Given the description of an element on the screen output the (x, y) to click on. 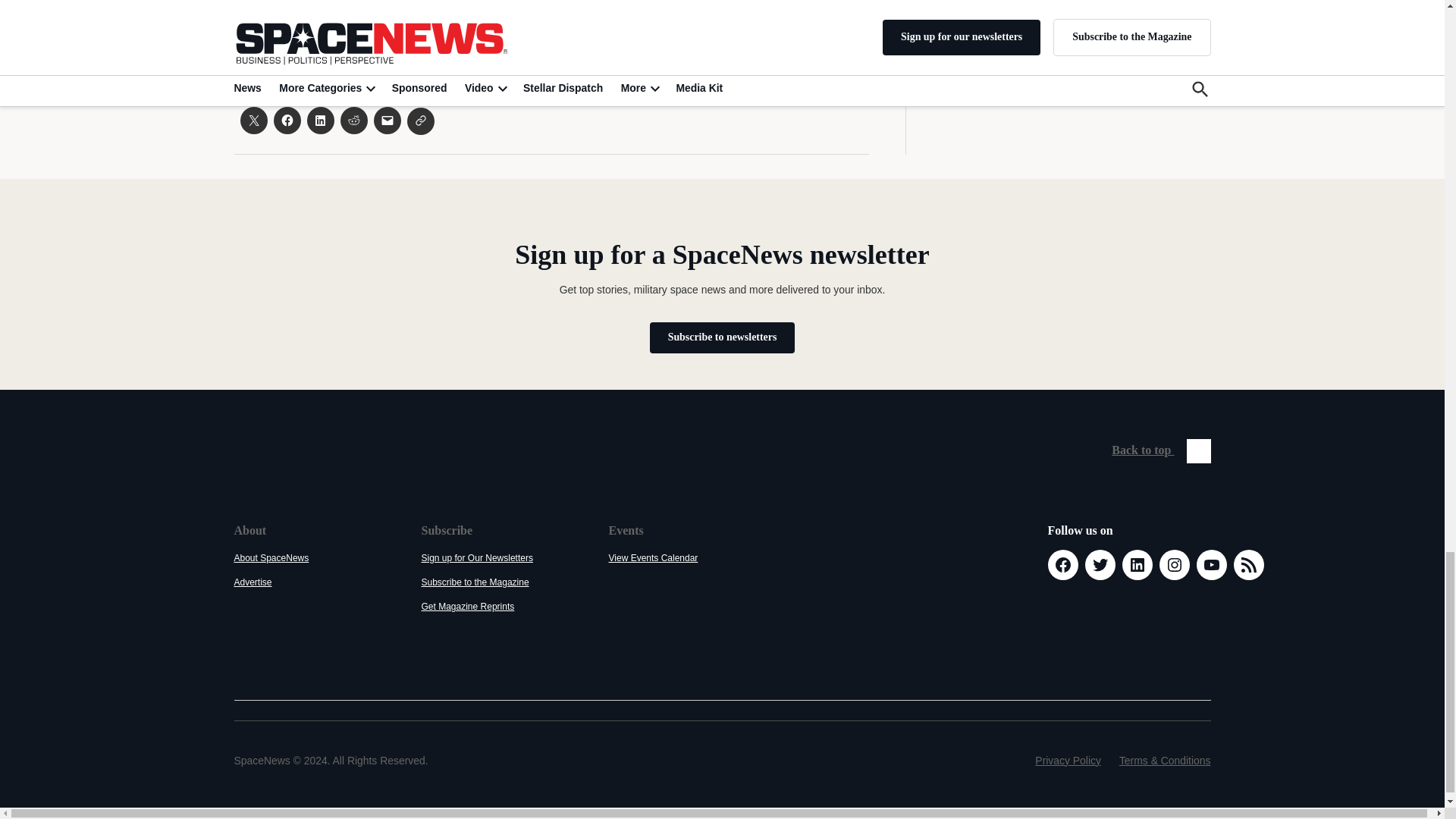
Click to share on LinkedIn (319, 120)
Click to share on X (253, 120)
Click to share on Facebook (286, 120)
Click to share on Reddit (352, 120)
